Given the description of an element on the screen output the (x, y) to click on. 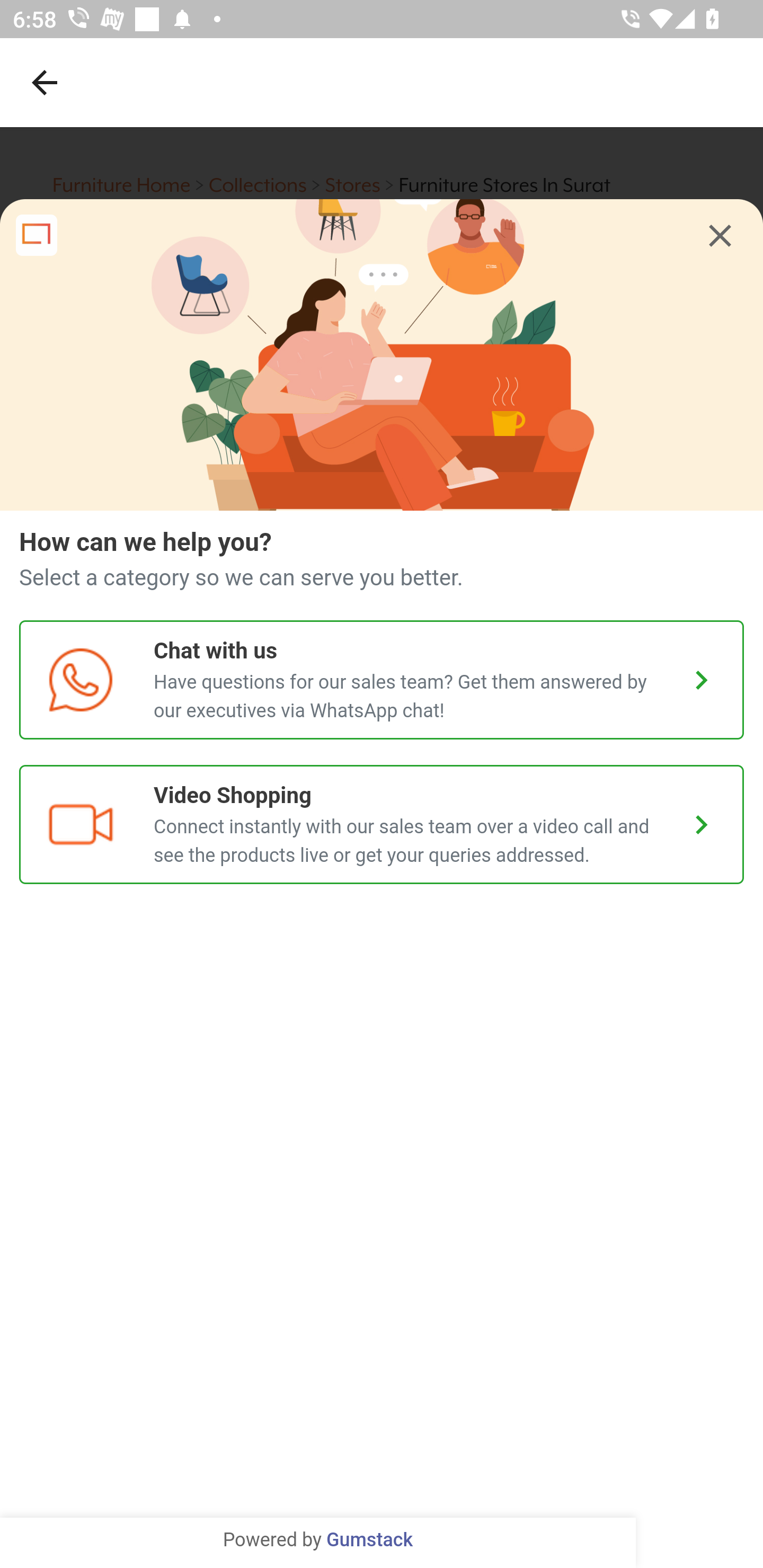
Navigate up (44, 82)
clear (720, 235)
Gumstack (369, 1540)
